Given the description of an element on the screen output the (x, y) to click on. 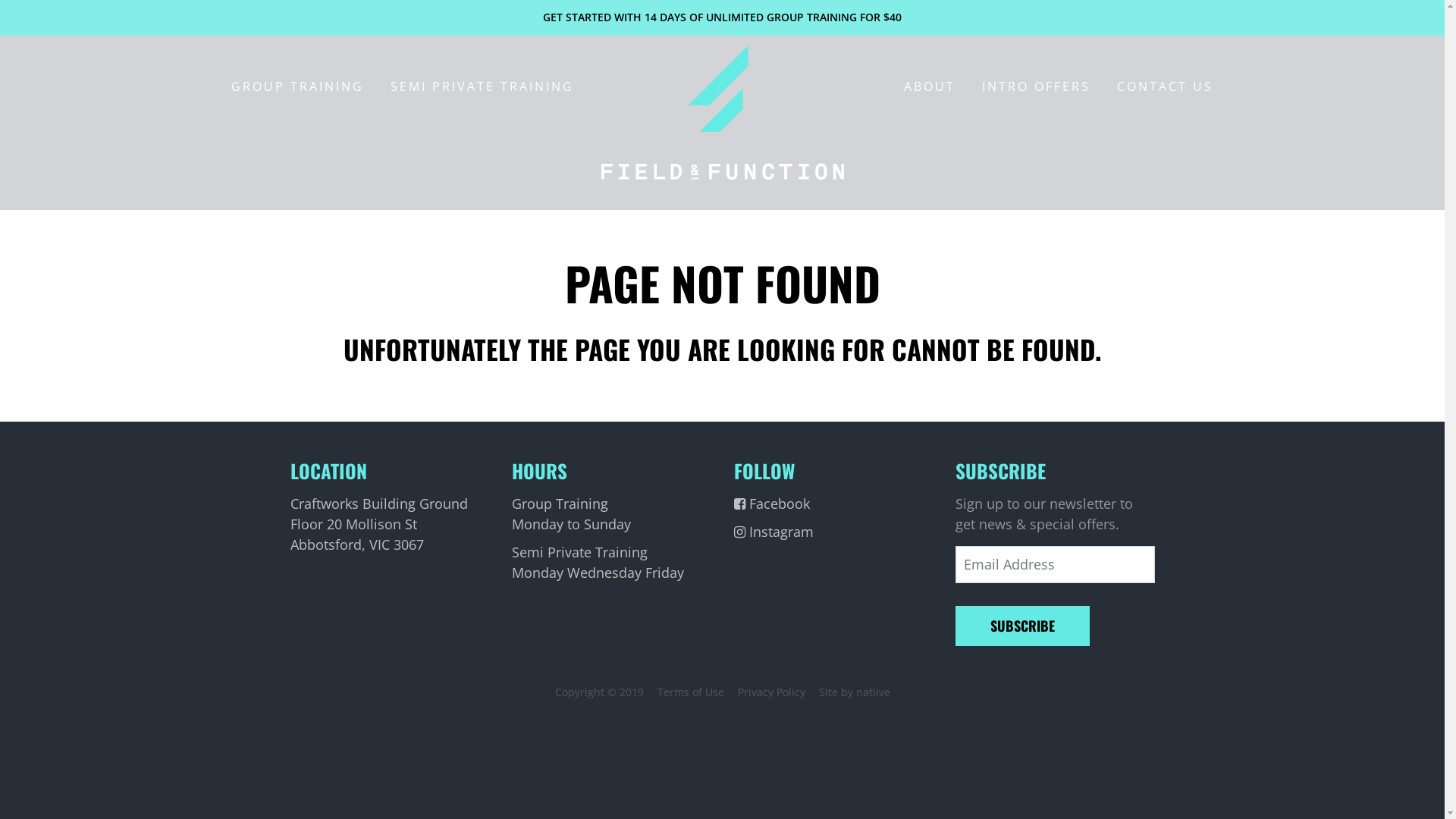
Site by natiive Element type: text (854, 691)
GROUP TRAINING Element type: text (297, 86)
CONTACT US Element type: text (1164, 86)
ABOUT Element type: text (929, 86)
Terms of Use Element type: text (689, 691)
Instagram Element type: text (833, 531)
INTRO OFFERS Element type: text (1035, 86)
Facebook Element type: text (833, 503)
SEMI PRIVATE TRAINING Element type: text (482, 86)
Group Training
Monday to Sunday Element type: text (611, 513)
Semi Private Training
Monday Wednesday Friday Element type: text (611, 562)
SUBSCRIBE Element type: text (1022, 625)
Privacy Policy Element type: text (770, 691)
GET STARTED WITH 14 DAYS OF UNLIMITED GROUP TRAINING FOR $40 Element type: text (722, 17)
